Given the description of an element on the screen output the (x, y) to click on. 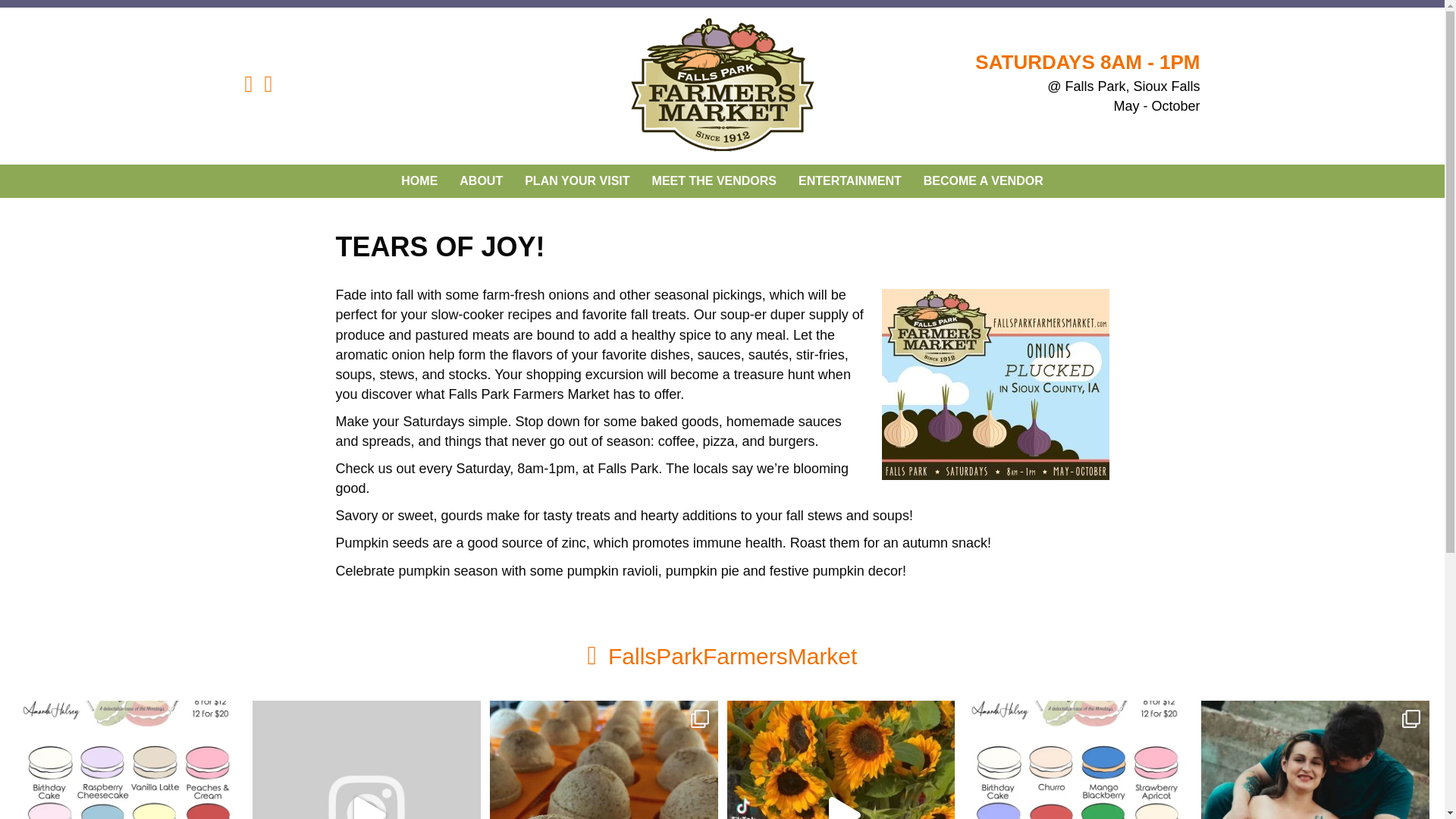
HOME (419, 181)
ABOUT (480, 181)
PLAN YOUR VISIT (576, 181)
BECOME A VENDOR (983, 181)
MEET THE VENDORS (714, 181)
FallsParkFarmersMarket (732, 656)
ENTERTAINMENT (849, 181)
fpfmlogo (721, 86)
